Given the description of an element on the screen output the (x, y) to click on. 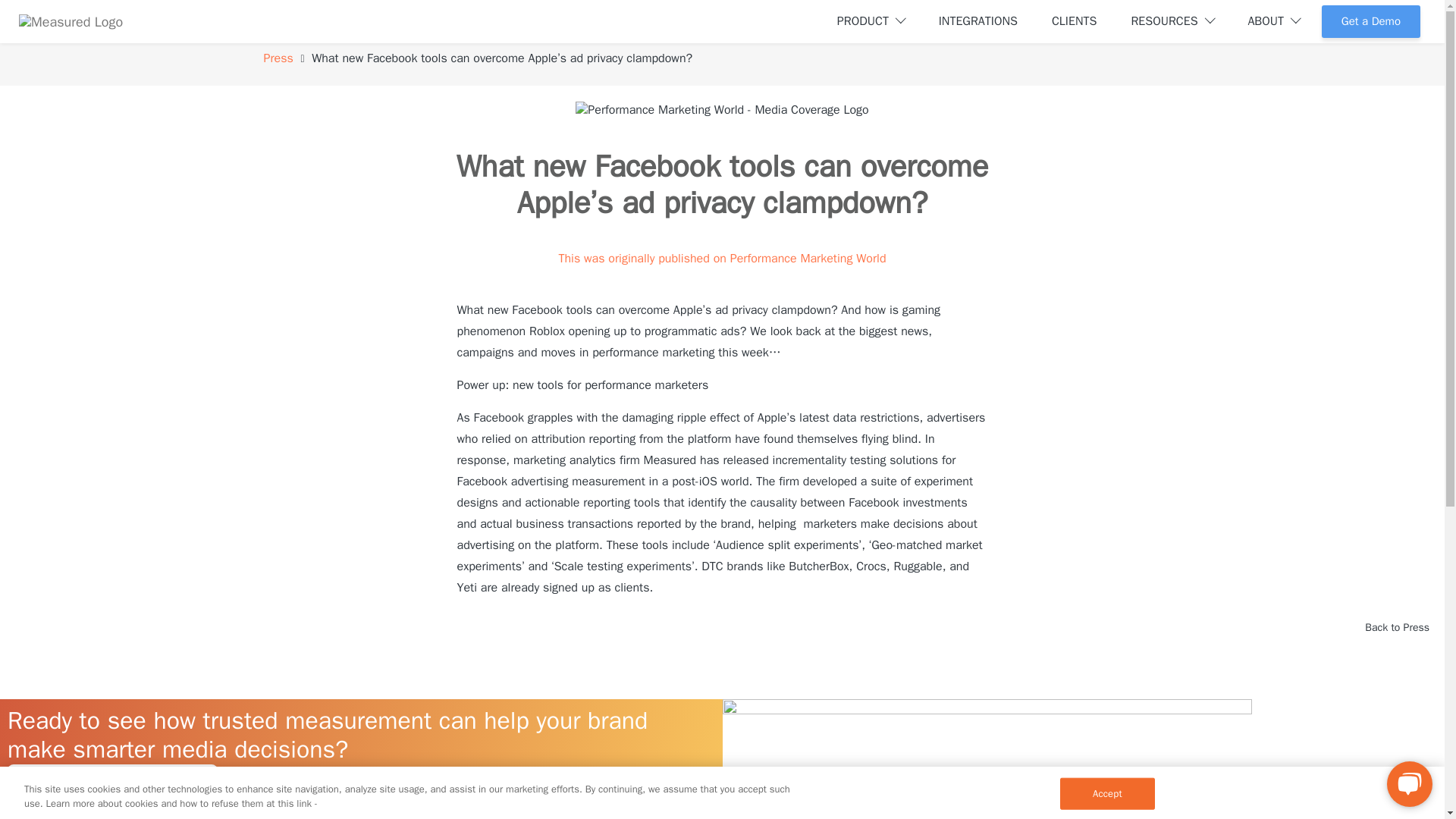
CLIENTS (1074, 20)
Press (278, 58)
RESOURCES (1171, 20)
Get a Demo (1371, 20)
This was originally published on Performance Marketing World (721, 258)
ABOUT (1273, 20)
Get a Demo (111, 783)
PRODUCT (870, 20)
INTEGRATIONS (978, 20)
Back to Press (1397, 626)
